Given the description of an element on the screen output the (x, y) to click on. 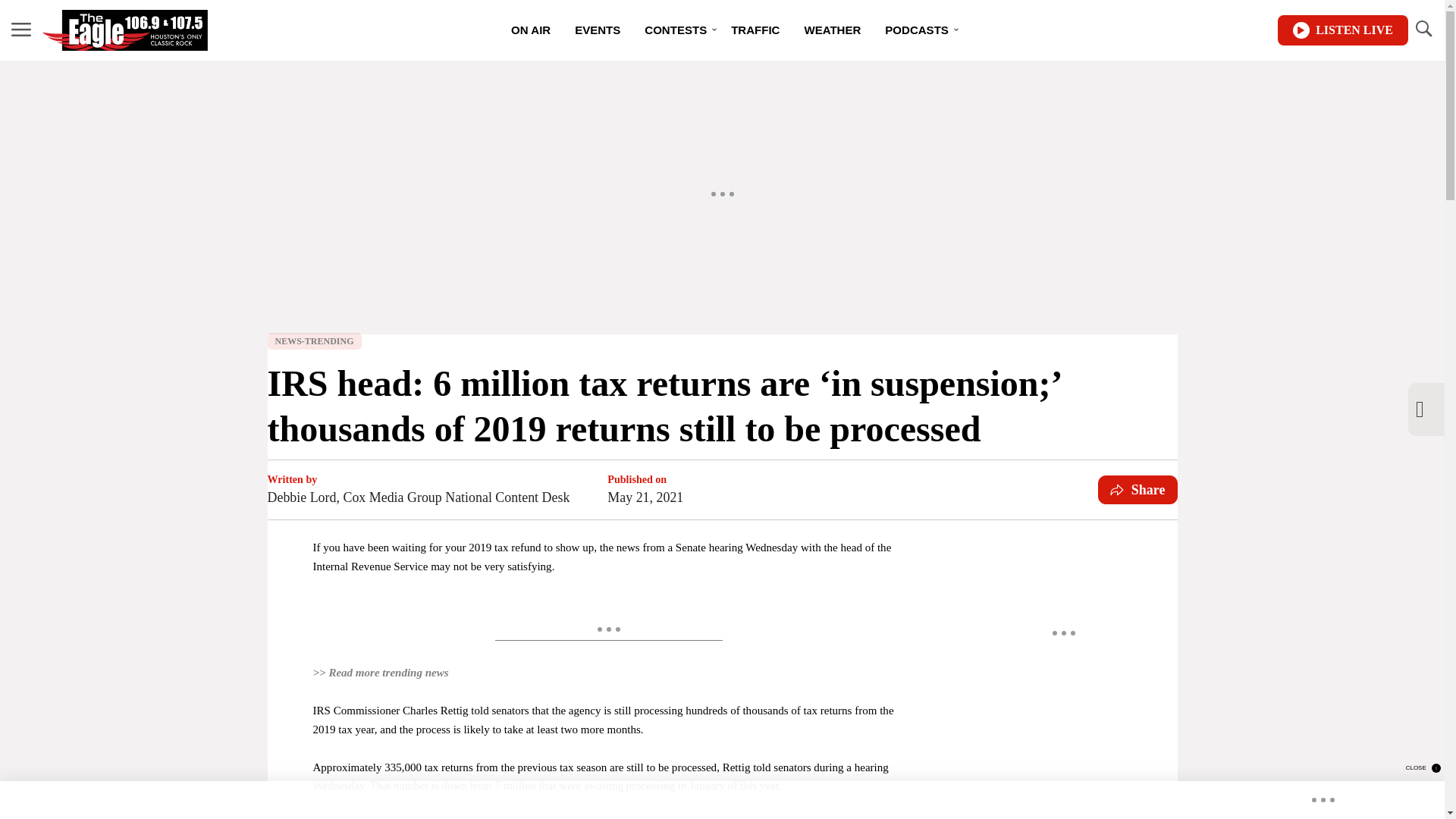
TOGGLE SEARCH (1422, 28)
LISTEN LIVE (1342, 30)
Debbie Lord, Cox Media Group National Content Desk (417, 496)
PODCASTS (916, 30)
TOGGLE SEARCH (1422, 30)
WEATHER (832, 30)
Share (1137, 489)
NEWS-TRENDING (313, 340)
MENU (20, 29)
ON AIR (530, 30)
